Given the description of an element on the screen output the (x, y) to click on. 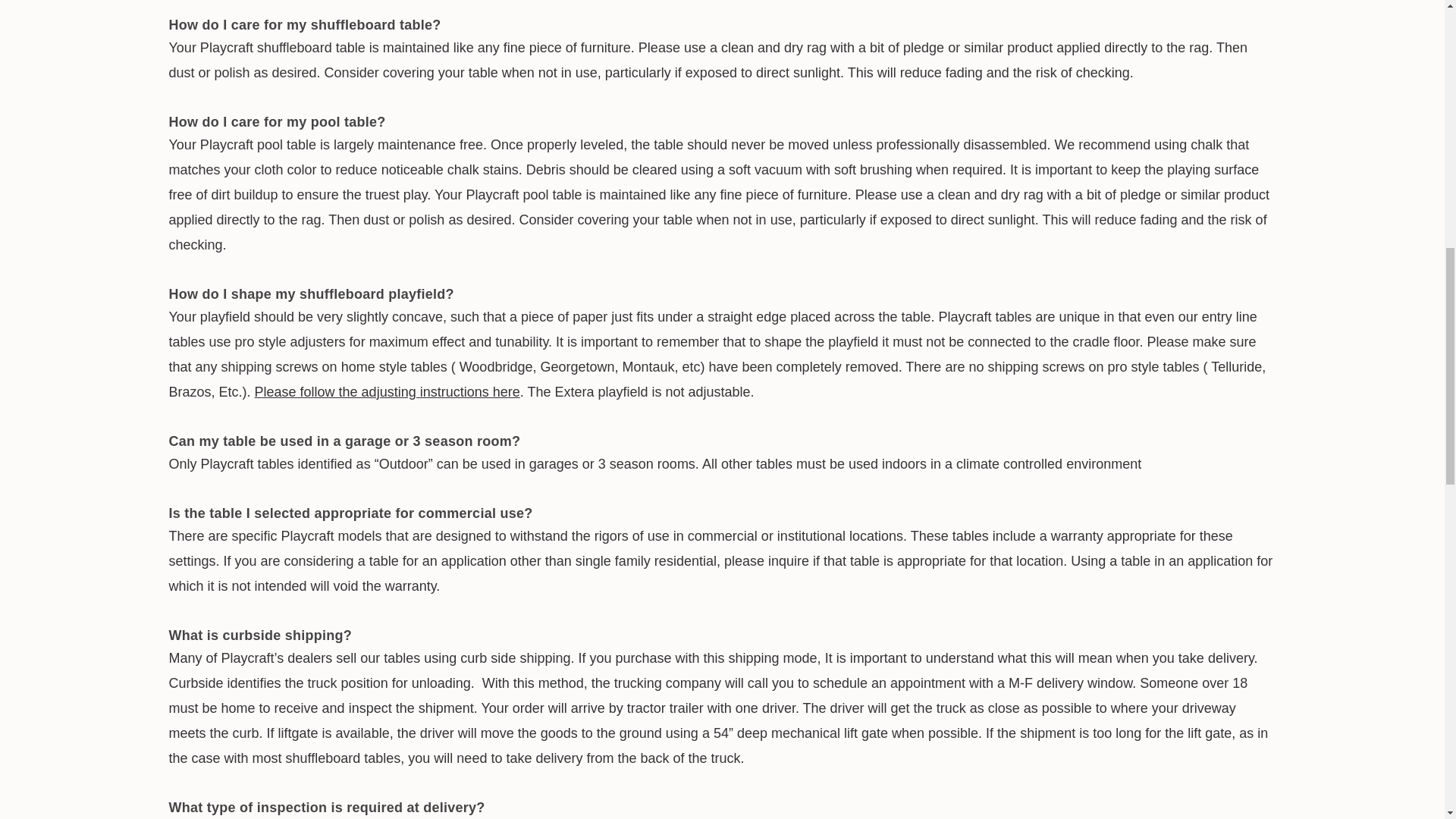
Please follow the adjusting instructions here (386, 391)
